Given the description of an element on the screen output the (x, y) to click on. 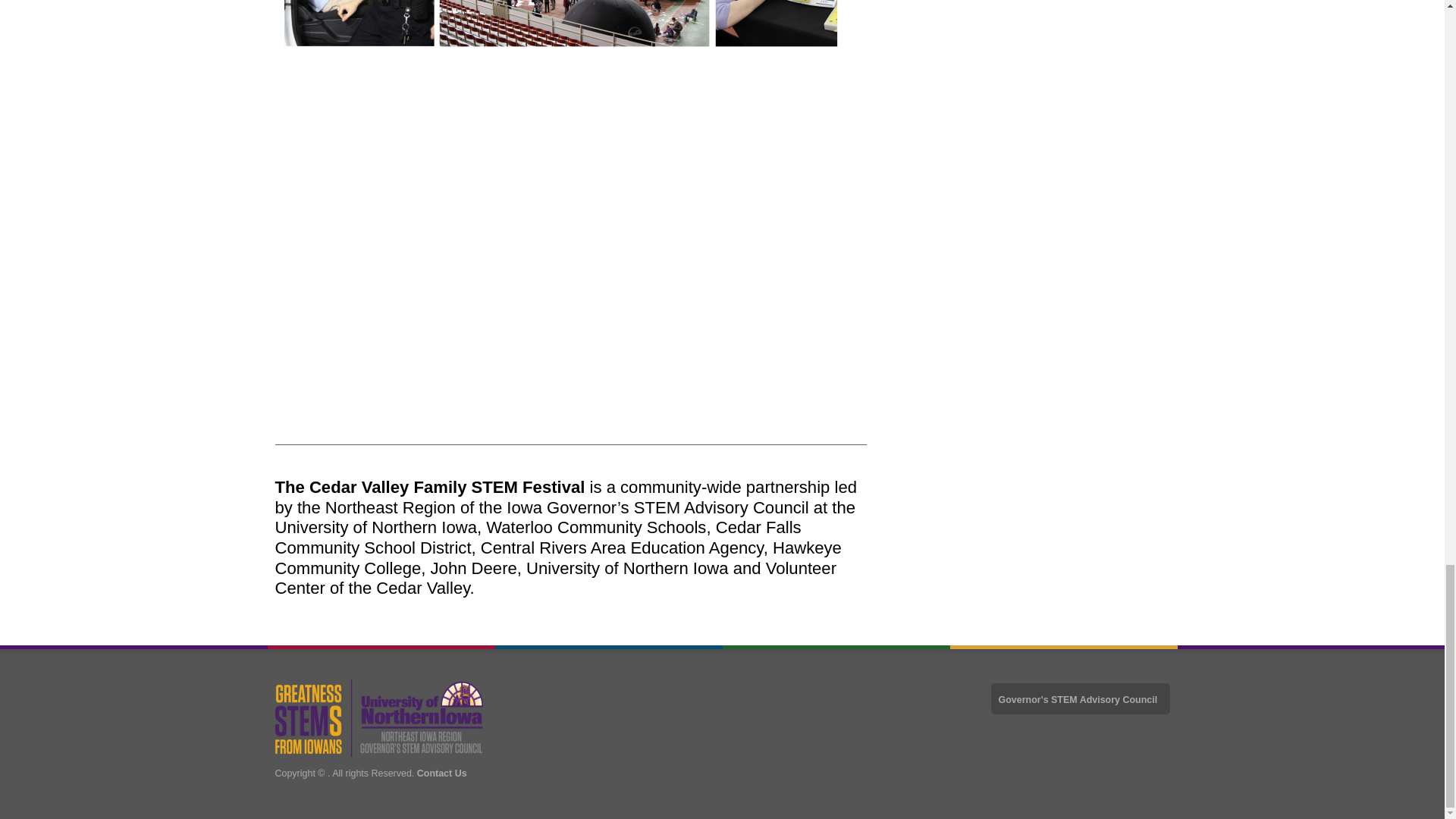
Governor's STEM Advisory Council   (1080, 698)
Contact Us (441, 773)
